Given the description of an element on the screen output the (x, y) to click on. 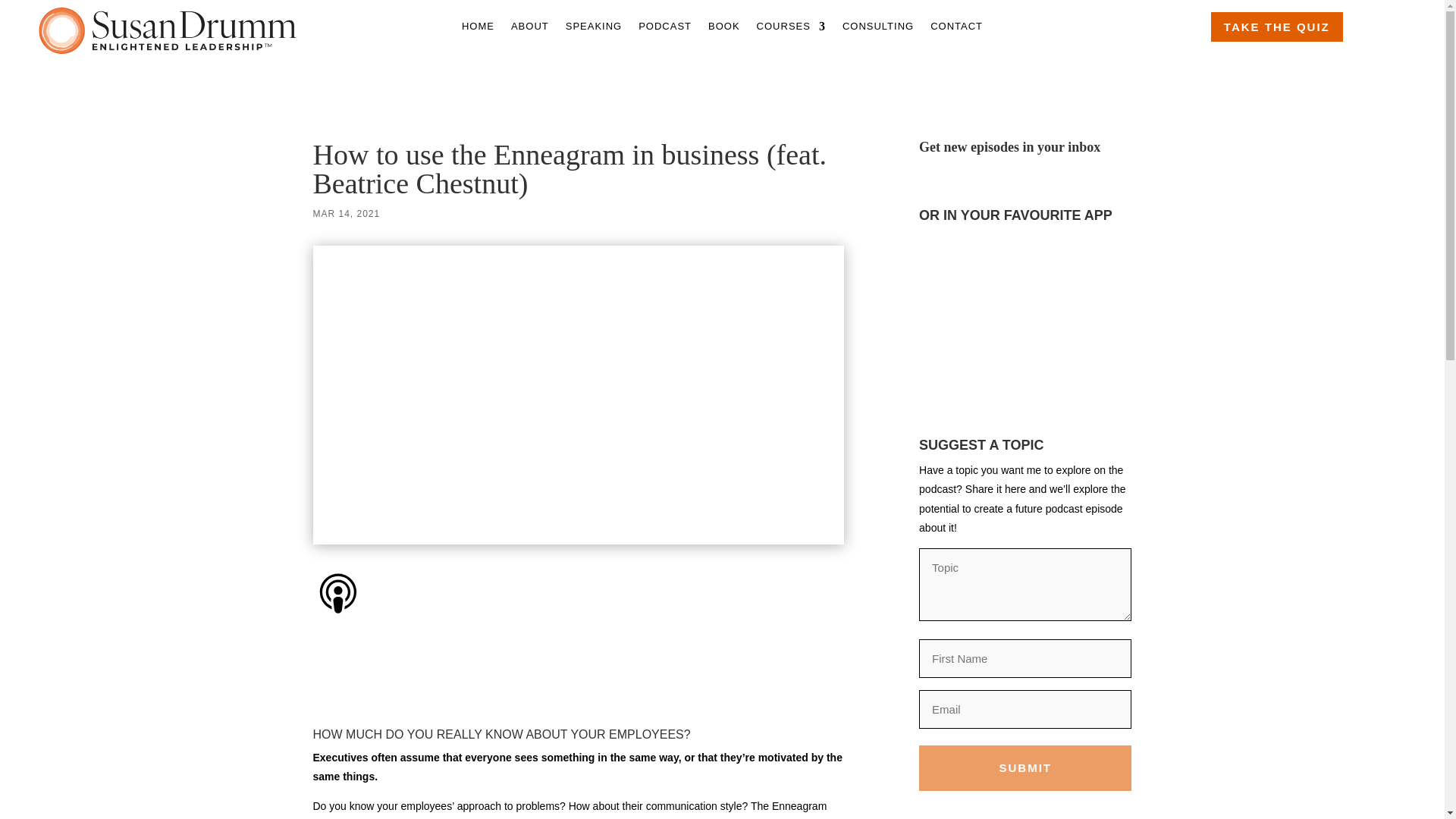
PODCAST (665, 29)
Susan Drumm (168, 30)
Submit (1024, 768)
COURSES (791, 29)
CONTACT (956, 29)
SPEAKING (593, 29)
TAKE THE QUIZ (1276, 26)
CONSULTING (878, 29)
Submit (1024, 768)
ABOUT (529, 29)
